Given the description of an element on the screen output the (x, y) to click on. 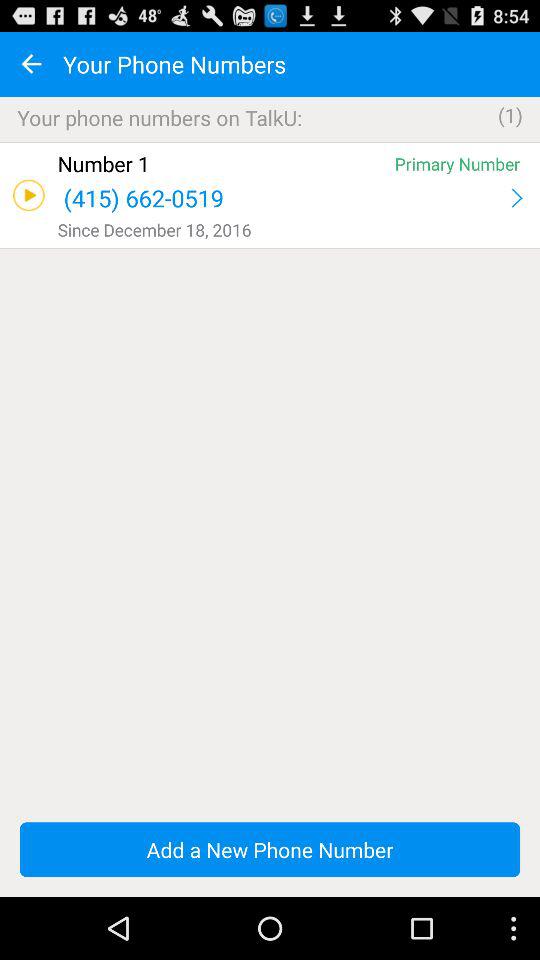
turn off the app next to the primary number (222, 163)
